Given the description of an element on the screen output the (x, y) to click on. 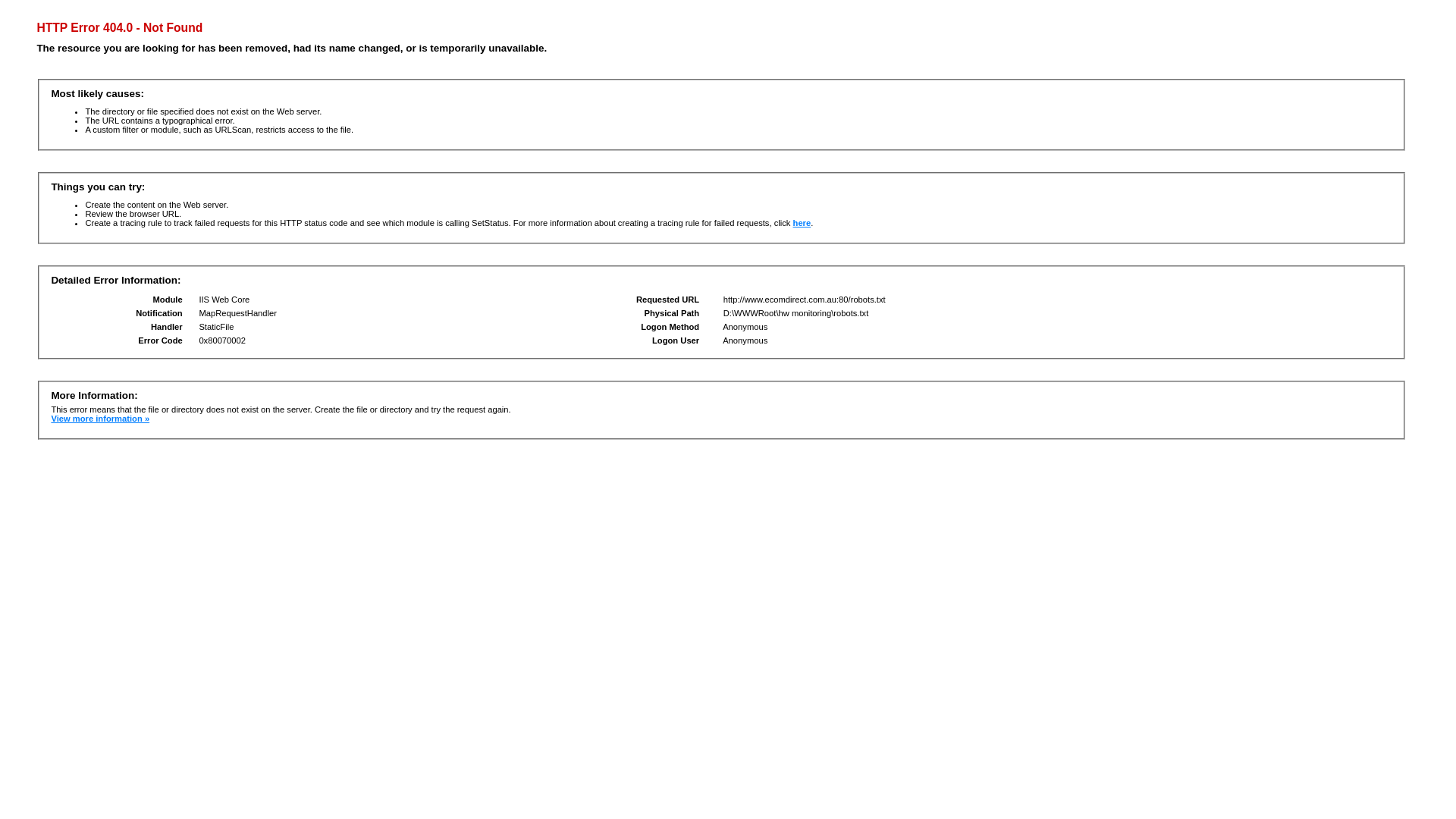
here Element type: text (802, 222)
